Given the description of an element on the screen output the (x, y) to click on. 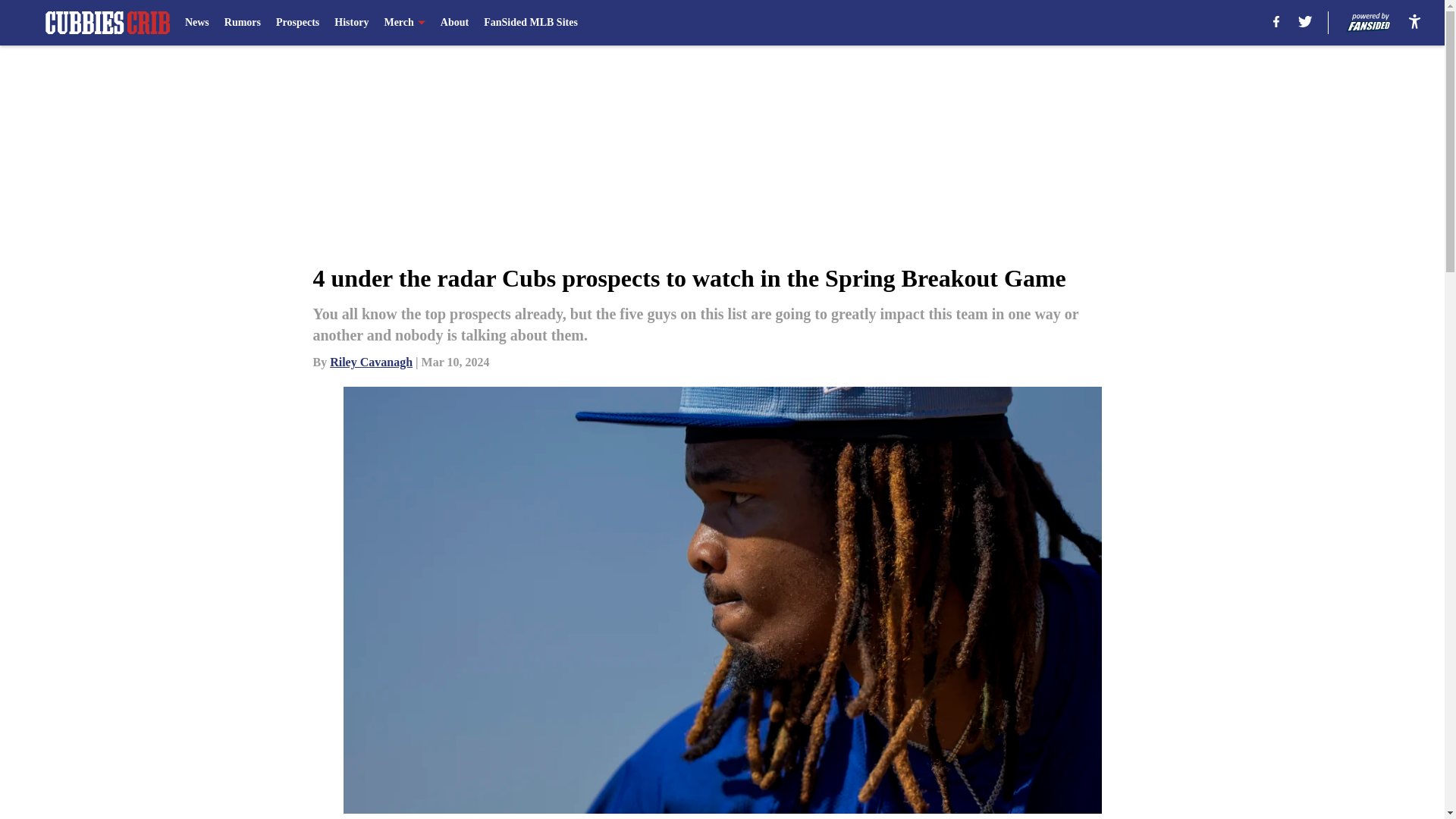
Prospects (297, 22)
FanSided MLB Sites (530, 22)
News (196, 22)
Riley Cavanagh (371, 361)
History (351, 22)
About (454, 22)
Rumors (242, 22)
